Given the description of an element on the screen output the (x, y) to click on. 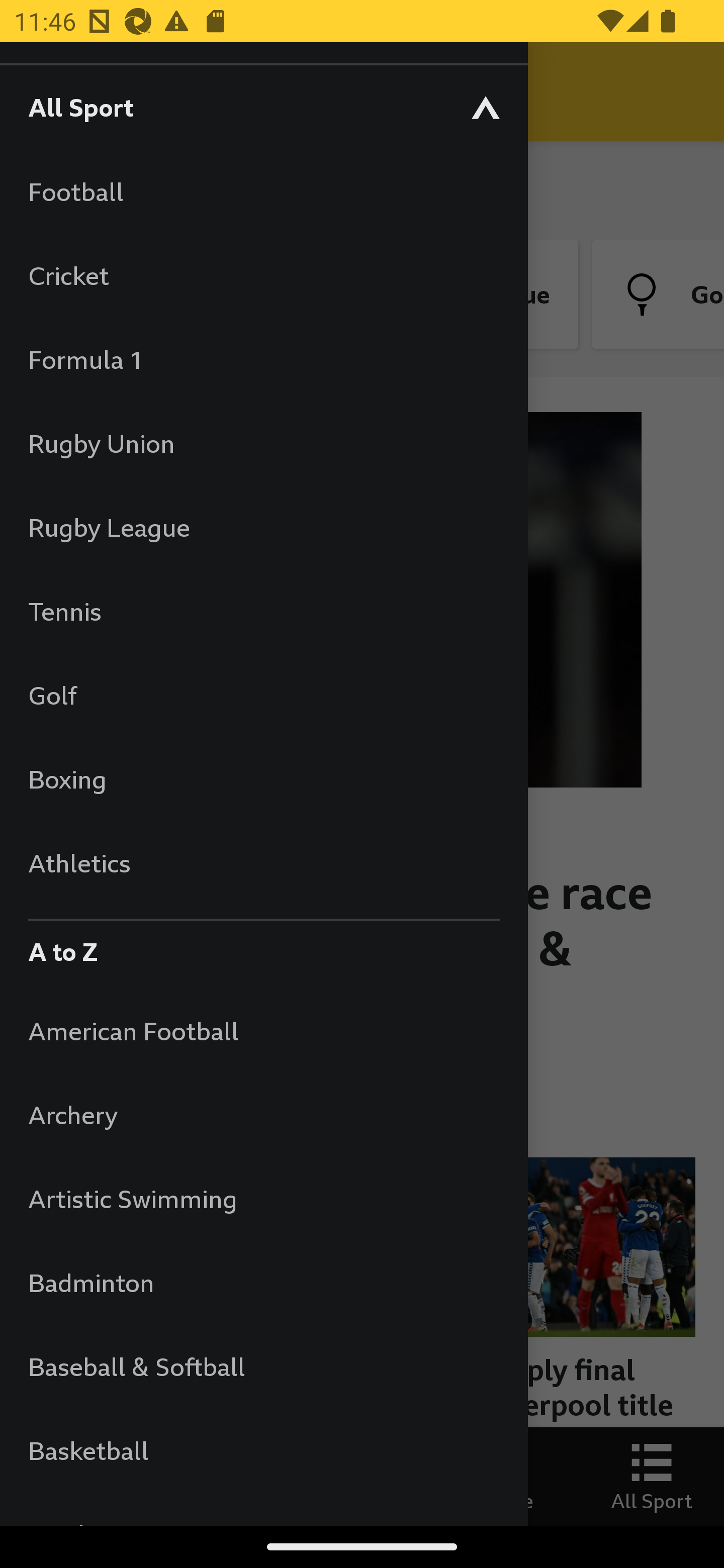
All Sport (263, 106)
Football (263, 190)
Cricket (263, 275)
Formula 1 (263, 358)
Rugby Union (263, 443)
Rugby League (263, 526)
Tennis (263, 611)
Golf (263, 694)
Boxing (263, 778)
Athletics (263, 862)
A to Z (263, 946)
American Football (263, 1029)
Archery (263, 1114)
Artistic Swimming (263, 1198)
Badminton (263, 1282)
Baseball & Softball (263, 1366)
Basketball (263, 1450)
